Given the description of an element on the screen output the (x, y) to click on. 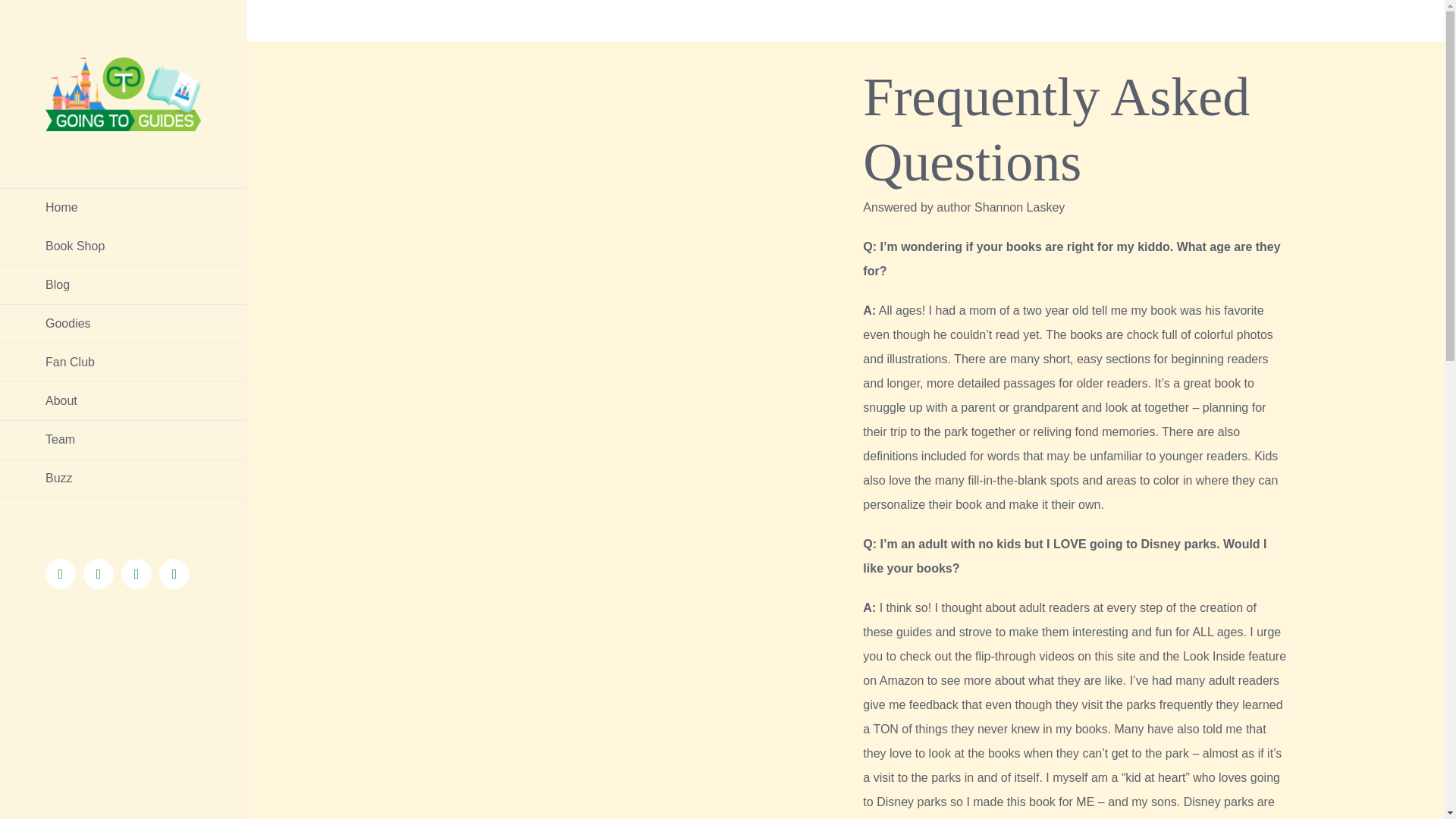
Home (123, 207)
Team (123, 439)
Blog (123, 285)
YouTube (173, 573)
Buzz (123, 478)
About (123, 401)
Pinterest (97, 573)
Instagram (135, 573)
Fan Club (123, 362)
Book Shop (123, 246)
Facebook (60, 573)
Goodies (123, 323)
